Given the description of an element on the screen output the (x, y) to click on. 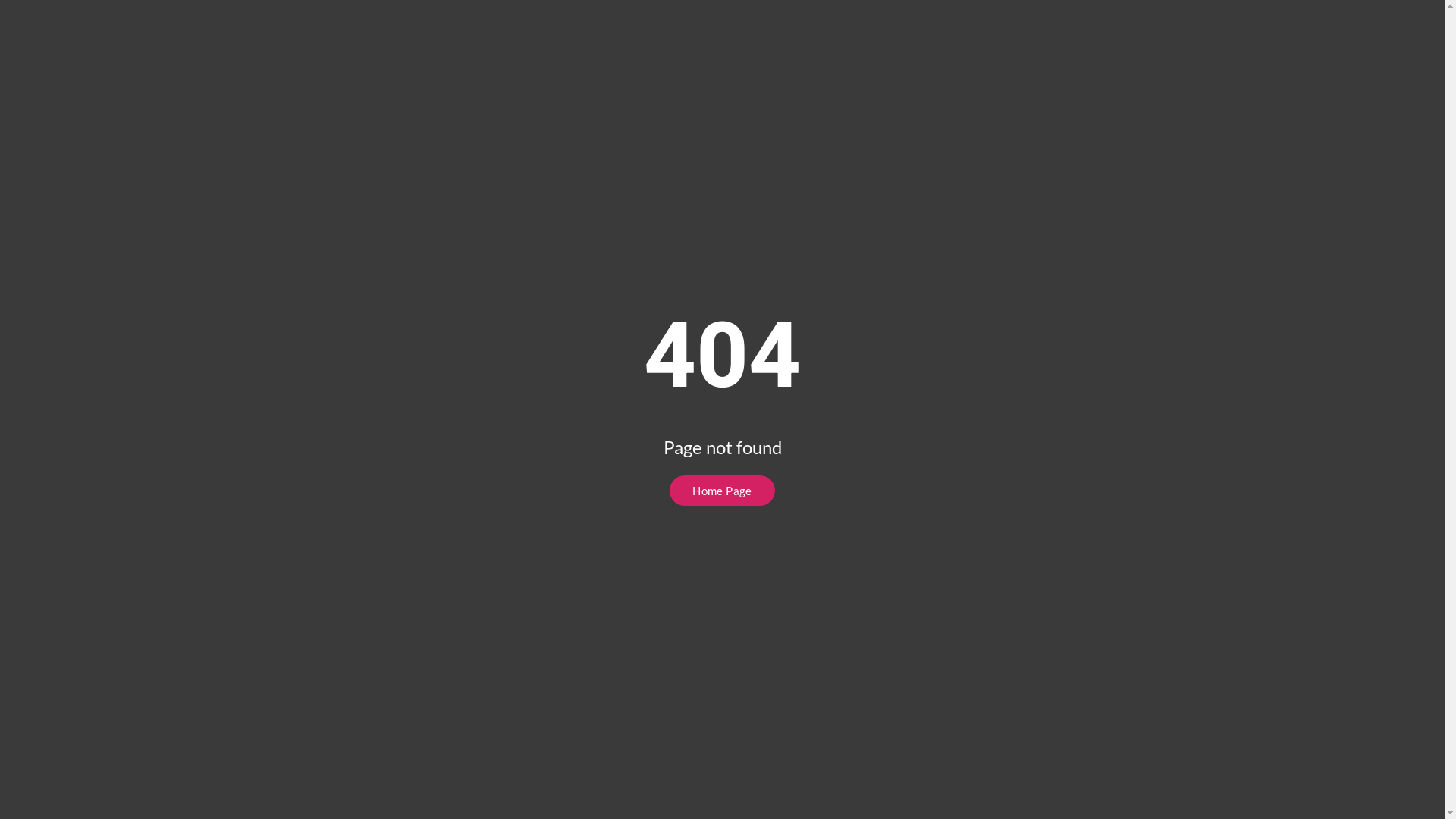
Home Page Element type: text (722, 490)
